Given the description of an element on the screen output the (x, y) to click on. 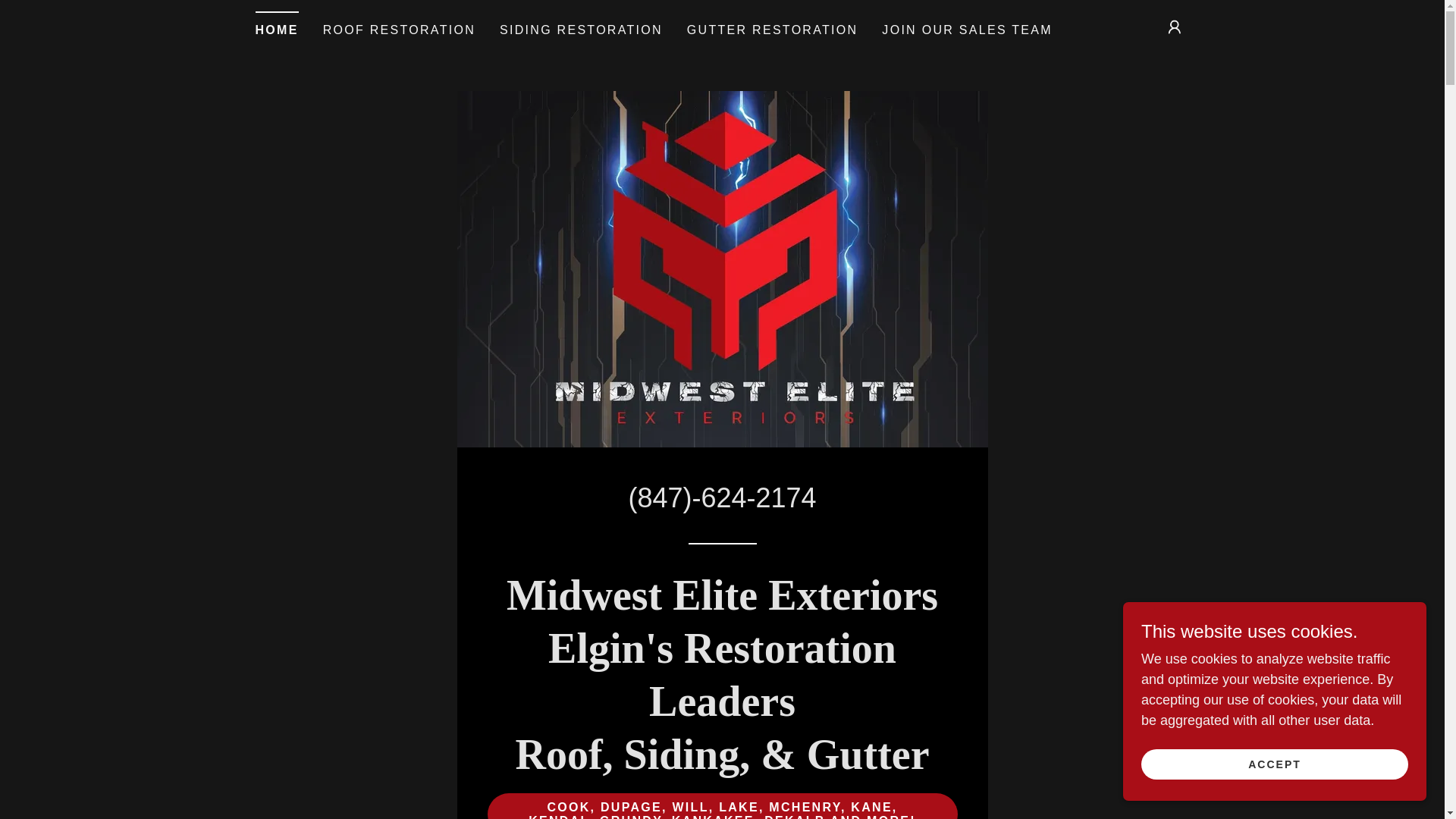
HOME (276, 25)
ROOF RESTORATION (399, 30)
GUTTER RESTORATION (772, 30)
SIDING RESTORATION (580, 30)
JOIN OUR SALES TEAM (967, 30)
